Given the description of an element on the screen output the (x, y) to click on. 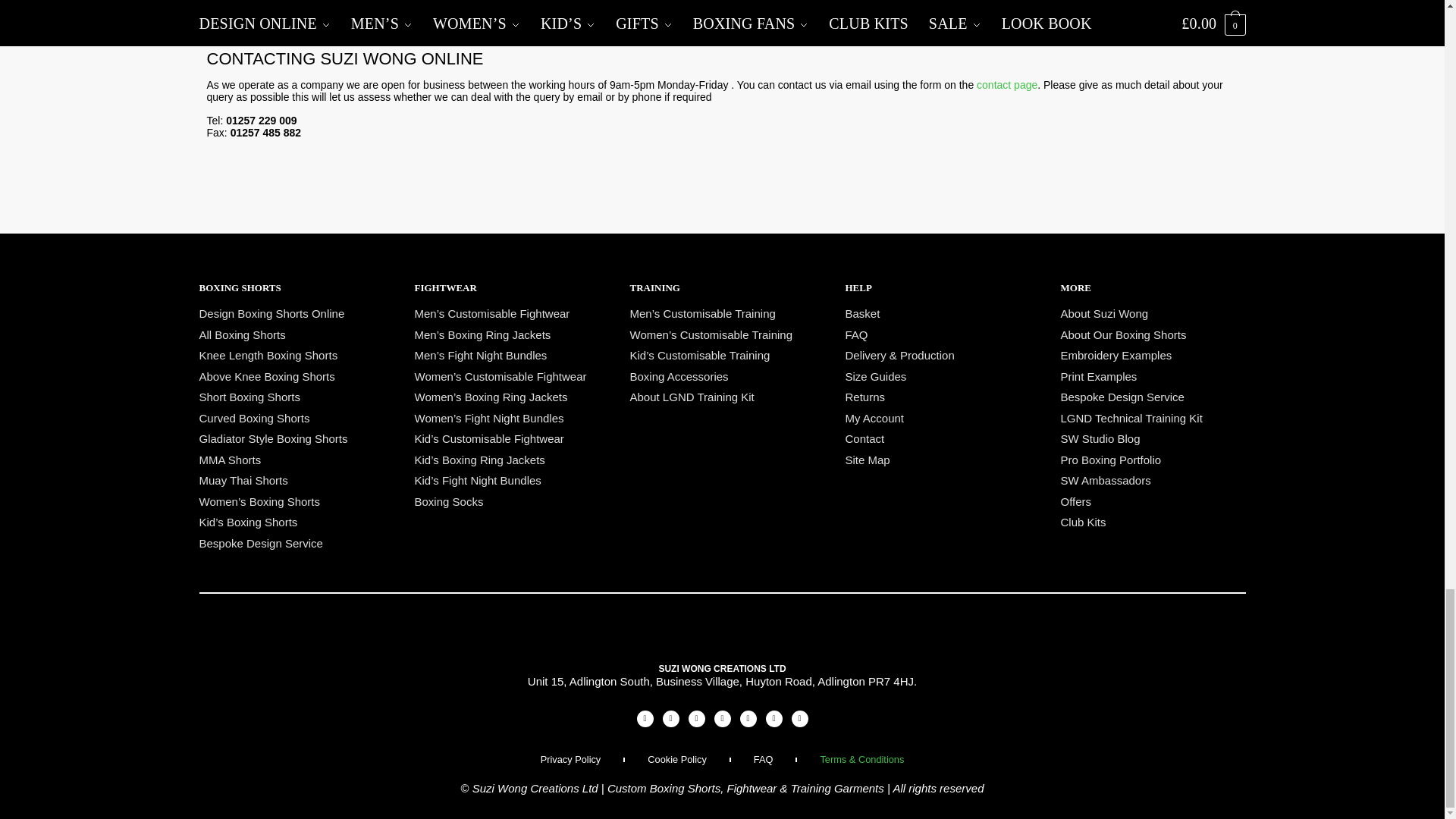
Suzi Wong Logo (722, 642)
